Given the description of an element on the screen output the (x, y) to click on. 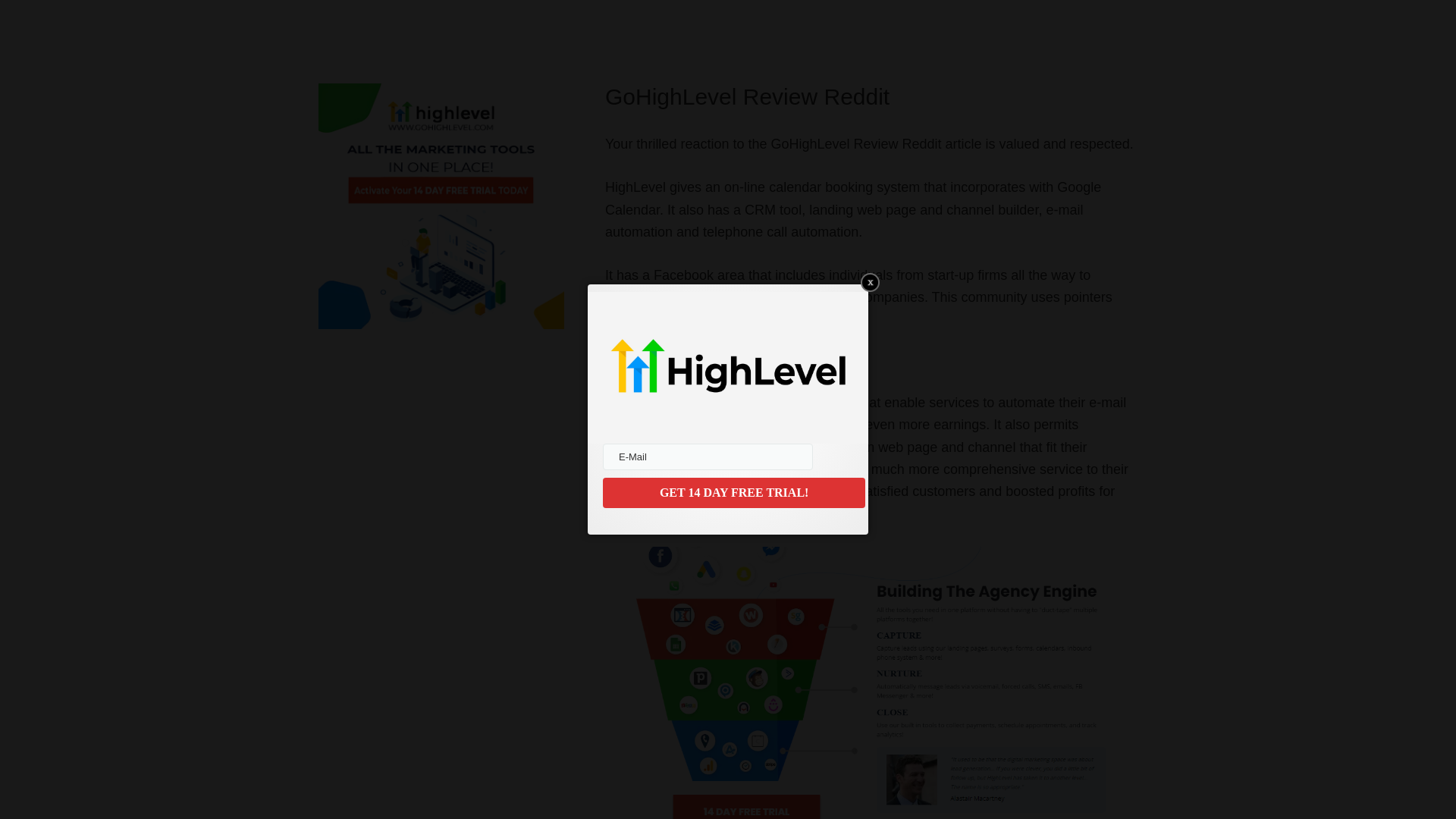
GET 14 DAY FREE TRIAL! (733, 492)
GET 14 DAY FREE TRIAL! (733, 492)
